Given the description of an element on the screen output the (x, y) to click on. 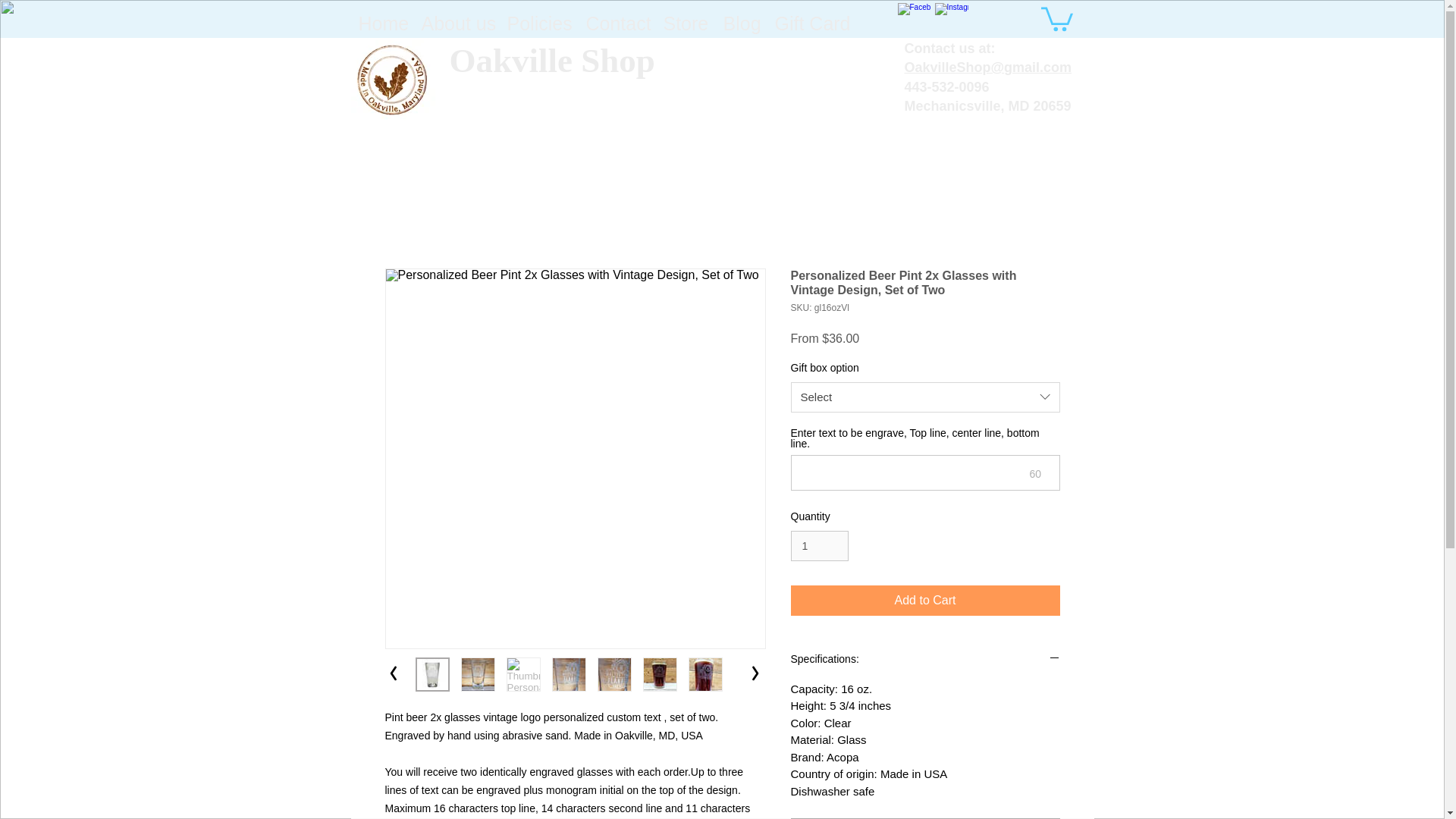
Add to Cart (924, 600)
Blog (741, 23)
Specifications: (924, 659)
Contact (616, 23)
About us (456, 23)
Policies (538, 23)
Home (381, 23)
Select (924, 397)
1 (818, 545)
Store (684, 23)
